Given the description of an element on the screen output the (x, y) to click on. 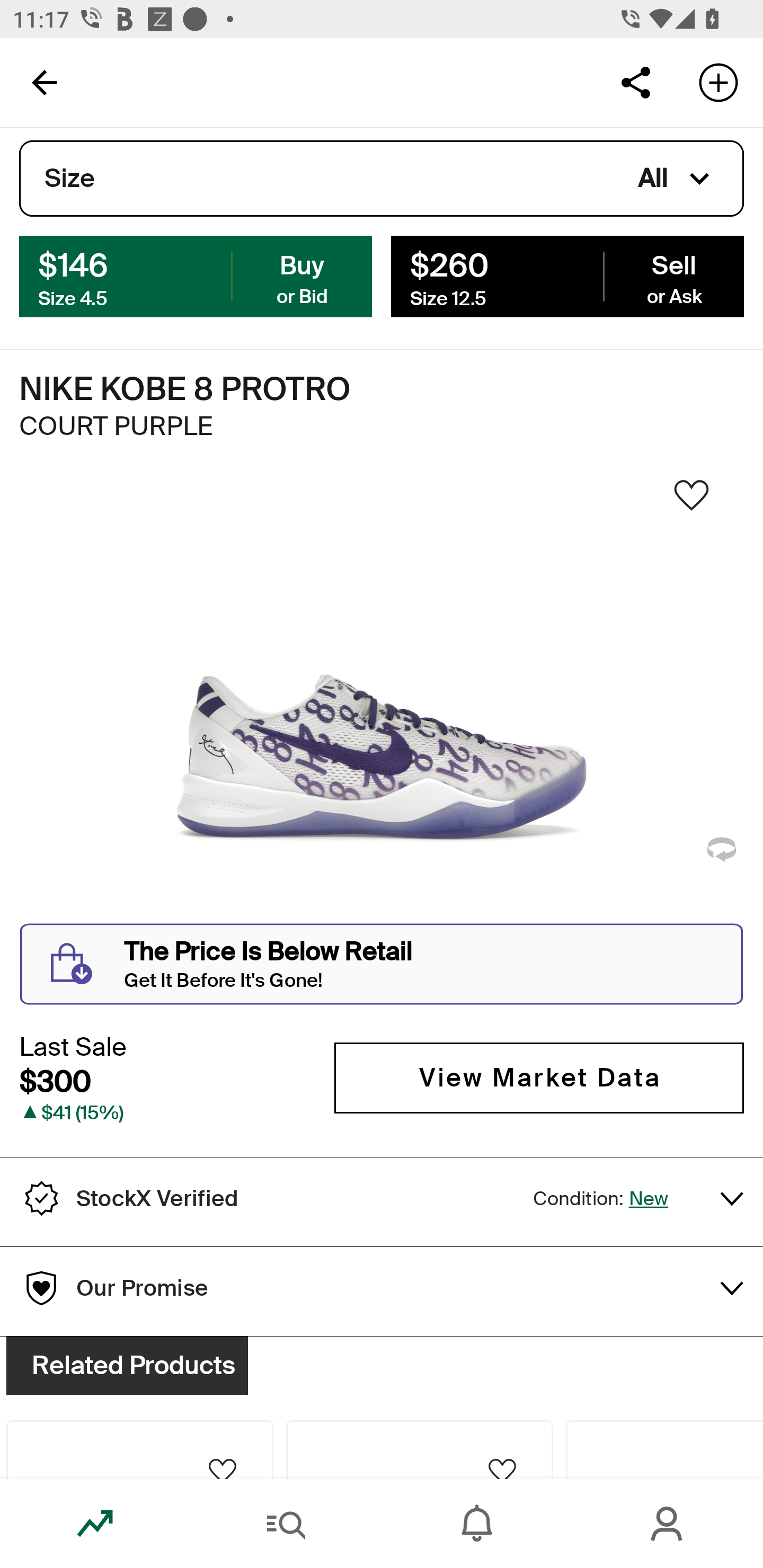
Share (635, 81)
Add (718, 81)
Size All (381, 178)
$146 Buy Size 4.5 or Bid (195, 275)
$260 Sell Size 12.5 or Ask (566, 275)
Sneaker Image (381, 699)
View Market Data (538, 1077)
Search (285, 1523)
Inbox (476, 1523)
Account (667, 1523)
